Given the description of an element on the screen output the (x, y) to click on. 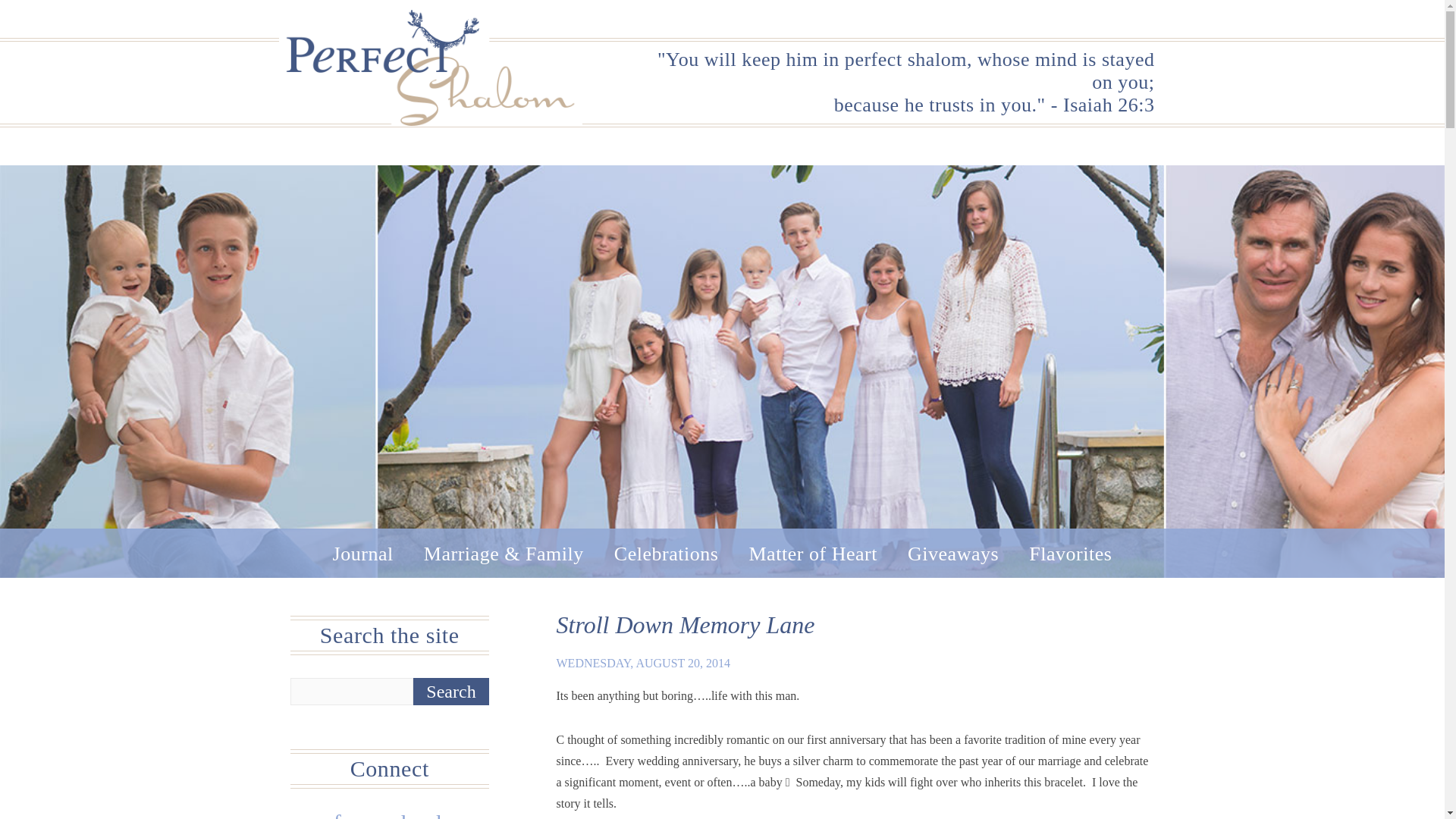
Stroll Down Memory Lane (685, 624)
Giveaways (952, 553)
Search (451, 691)
Matter of Heart (812, 553)
Celebrations (666, 553)
Journal (363, 553)
Flavorites (1070, 553)
